Given the description of an element on the screen output the (x, y) to click on. 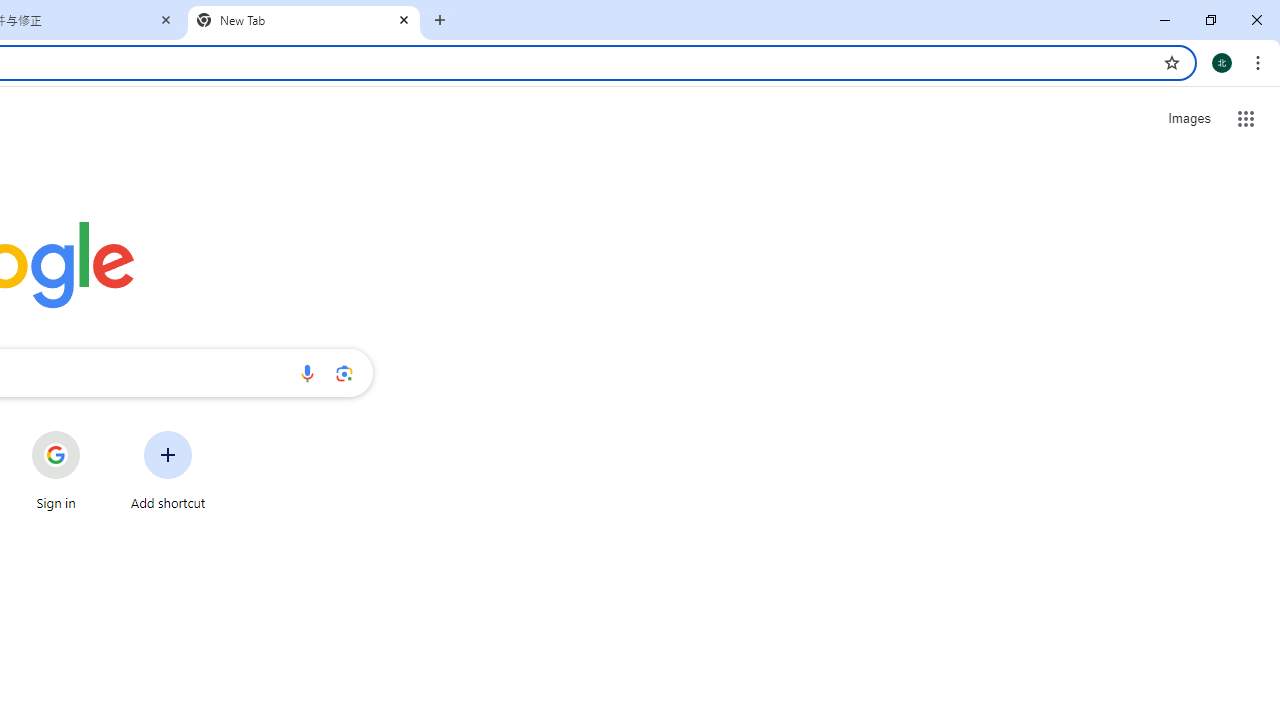
Gmail, row 2 of 5 and column 2 of 3 in the first section (1090, 325)
Translate, row 4 of 5 and column 3 of 3 in the first section (1186, 517)
News, row 2 of 5 and column 1 of 3 in the first section (994, 325)
More actions for Sign in shortcut (95, 433)
Maps, row 1 of 5 and column 3 of 3 in the first section (1186, 229)
Calendar, row 4 of 5 and column 1 of 3 in the first section (994, 517)
New Tab (304, 20)
Drive, row 3 of 5 and column 3 of 3 in the first section (1186, 421)
Contacts, row 3 of 5 and column 2 of 3 in the first section (1090, 421)
Search, row 1 of 5 and column 2 of 3 in the first section (1090, 229)
Play, row 4 of 5 and column 2 of 3 in the first section (1090, 517)
Shopping, row 5 of 5 and column 2 of 3 in the first section (1090, 613)
